Given the description of an element on the screen output the (x, y) to click on. 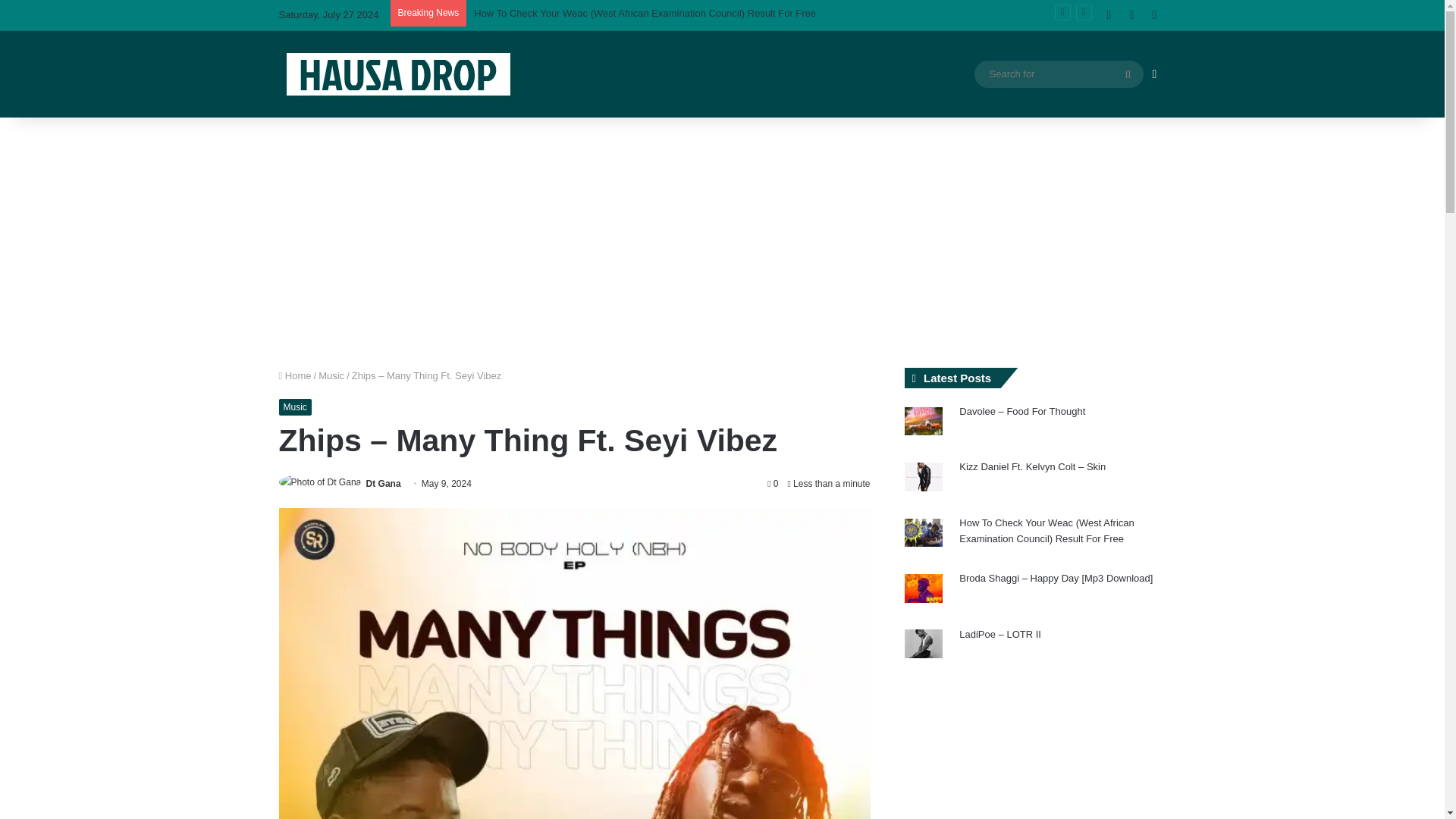
Search for (1058, 73)
Music (330, 375)
HausaDrop.com (397, 73)
Log In (1154, 15)
Home (295, 375)
Dt Gana (383, 483)
Random Article (1131, 15)
Search for (1127, 73)
Random Article (1131, 15)
Switch skin (1154, 73)
Sidebar (1109, 15)
Dt Gana (383, 483)
Switch skin (1154, 73)
Music (295, 406)
